Given the description of an element on the screen output the (x, y) to click on. 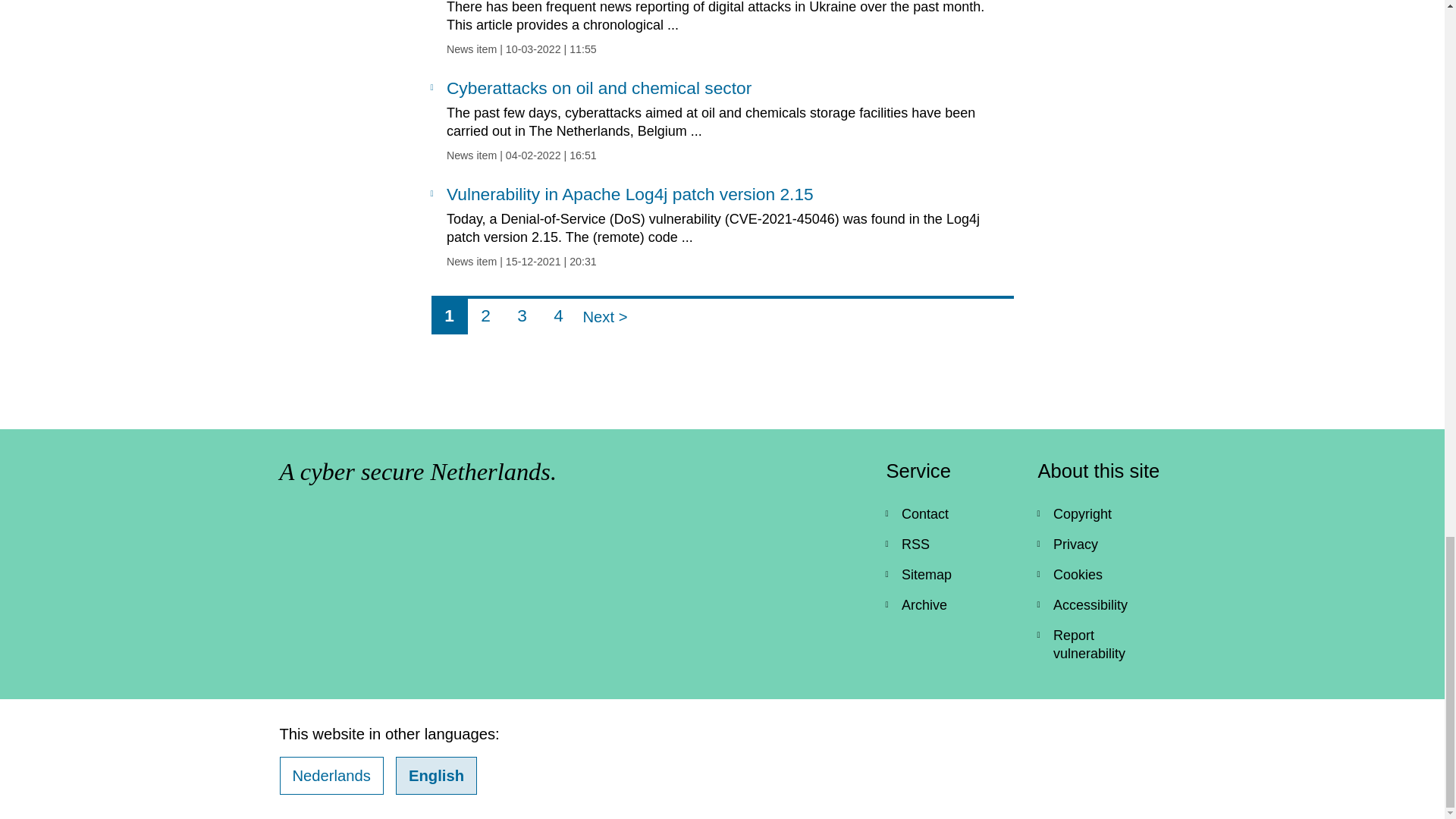
Contact (949, 513)
Accessibility (1100, 604)
Archive (558, 316)
Nederlands (949, 604)
Cookies (330, 775)
RSS (1100, 574)
Report vulnerability (485, 316)
Privacy (949, 544)
Copyright (521, 316)
Sitemap (1100, 644)
